Given the description of an element on the screen output the (x, y) to click on. 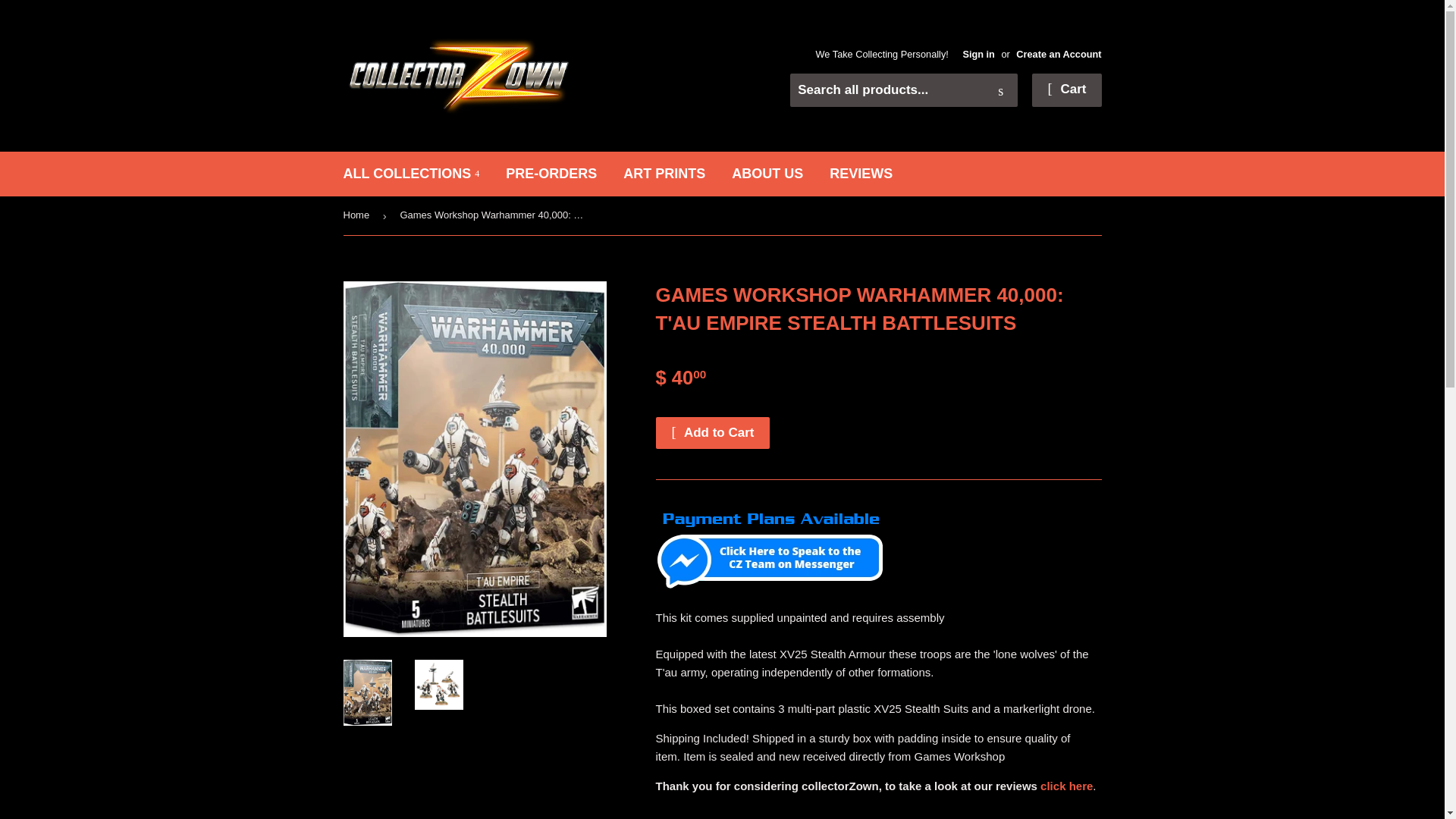
Search (1000, 91)
Sign in (978, 53)
REVIEWS (861, 173)
PRE-ORDERS (551, 173)
ALL COLLECTIONS (411, 173)
Customer reviews powered by Trustpilot (877, 812)
ART PRINTS (663, 173)
click here (1067, 785)
Cart (1066, 90)
ABOUT US (766, 173)
Back to the frontpage (358, 215)
Create an Account (1058, 53)
Home (358, 215)
Add to Cart (712, 432)
